Given the description of an element on the screen output the (x, y) to click on. 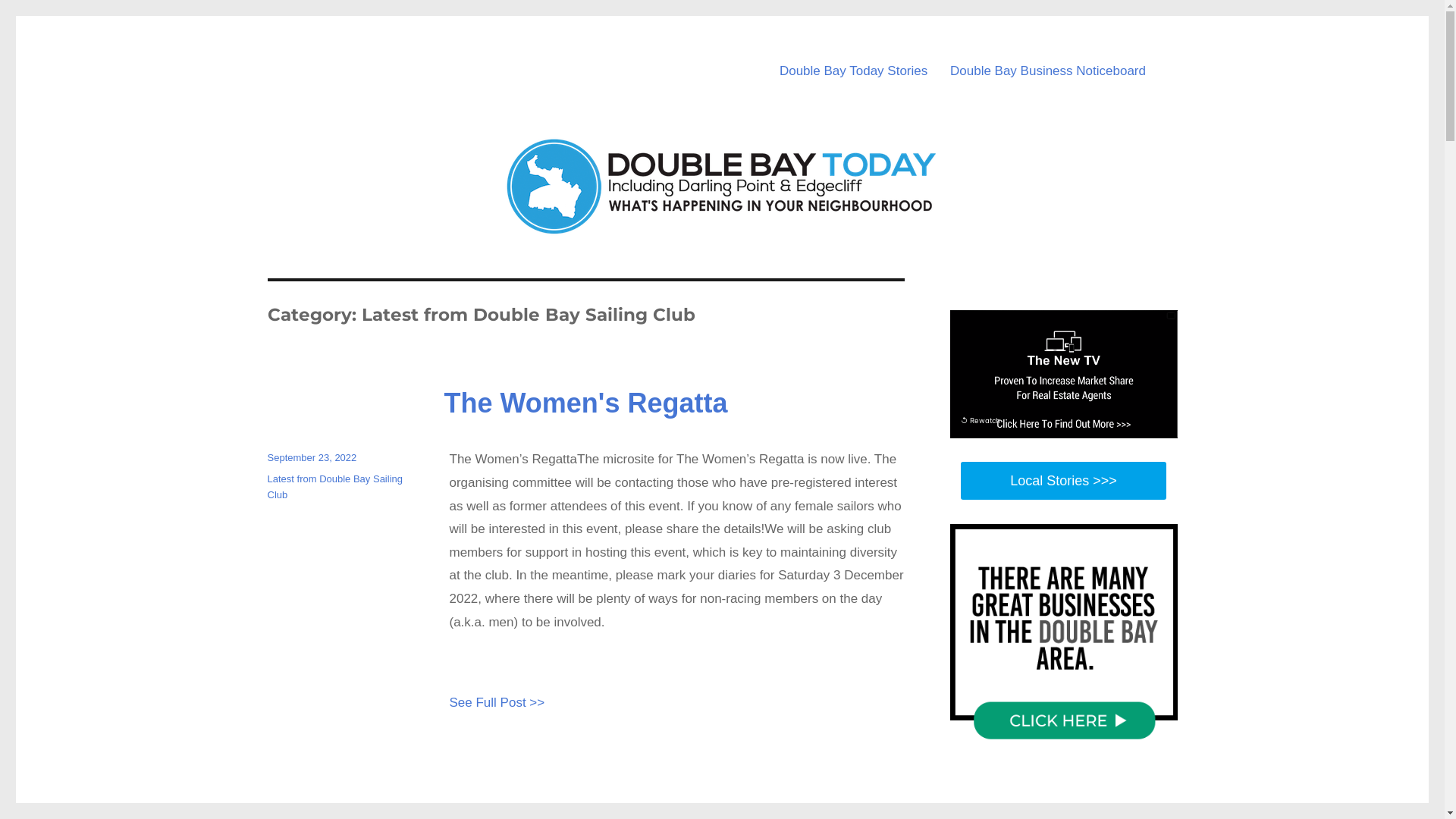
Latest from Double Bay Sailing Club Element type: text (333, 486)
Local Stories >>> Element type: text (1063, 480)
See Full Post >> Element type: text (496, 702)
Double Bay Business Noticeboard Element type: text (1047, 71)
Double Bay Today Element type: text (390, 44)
The Women's Regatta Element type: text (586, 401)
Double Bay Today Stories Element type: text (853, 71)
September 23, 2022 Element type: text (311, 457)
